Given the description of an element on the screen output the (x, y) to click on. 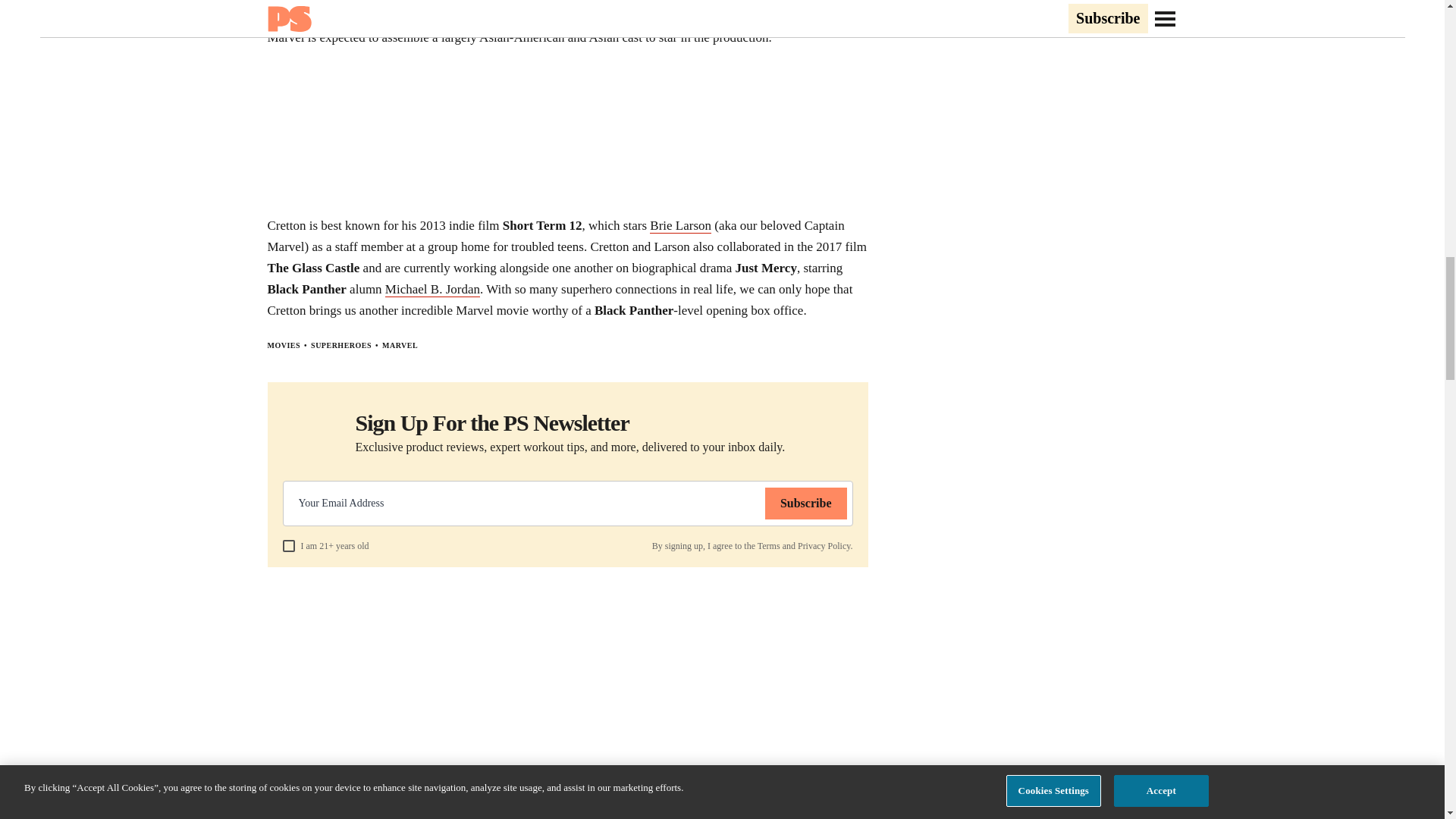
MOVIES (282, 345)
Terms (768, 545)
MARVEL (399, 345)
Subscribe (806, 503)
screenwriter Dave Callaham (549, 16)
Privacy Policy. (825, 545)
Brie Larson (680, 225)
Michael B. Jordan (432, 289)
SUPERHEROES (341, 345)
